Given the description of an element on the screen output the (x, y) to click on. 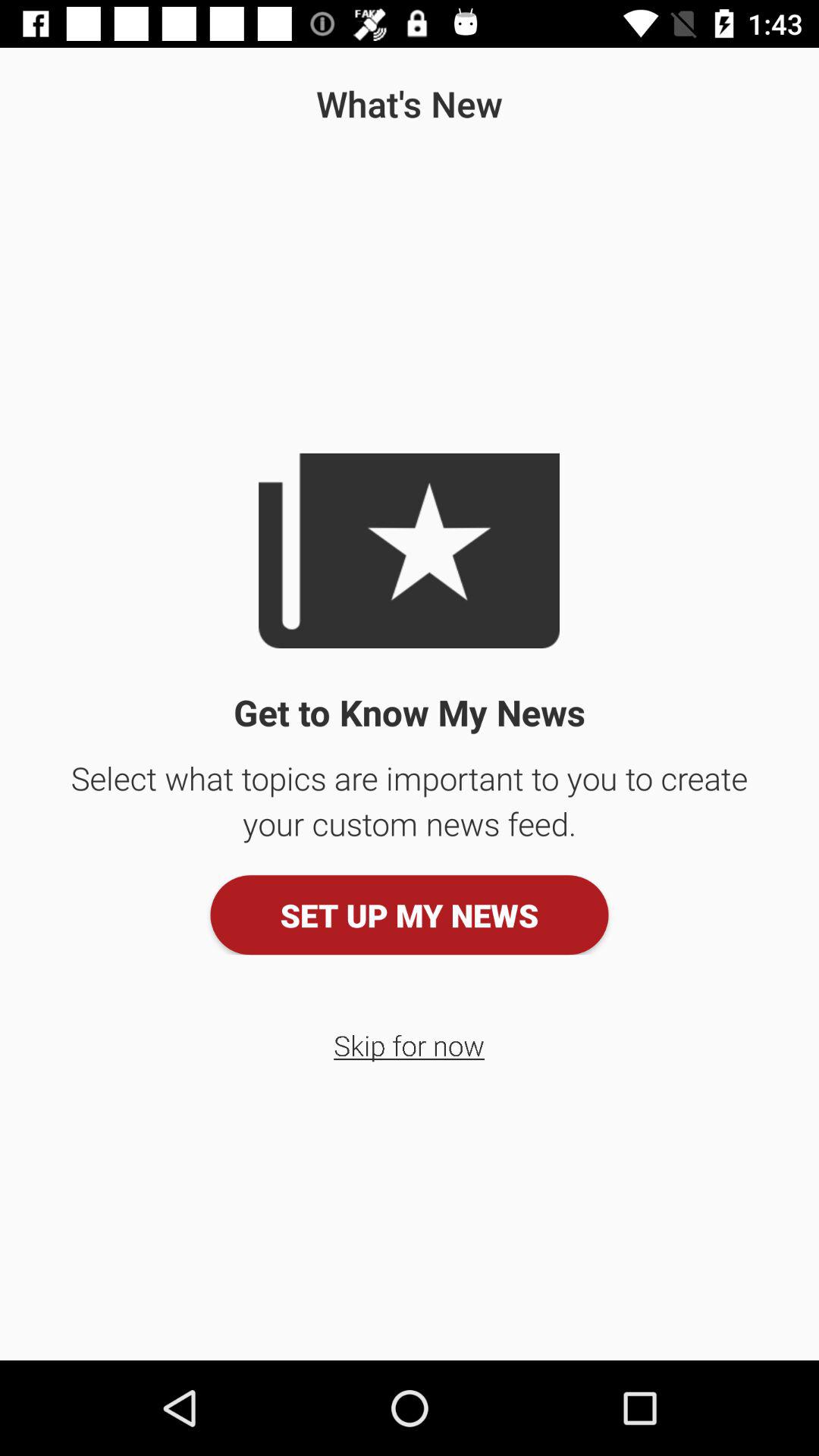
tap icon below set up my icon (409, 1044)
